Given the description of an element on the screen output the (x, y) to click on. 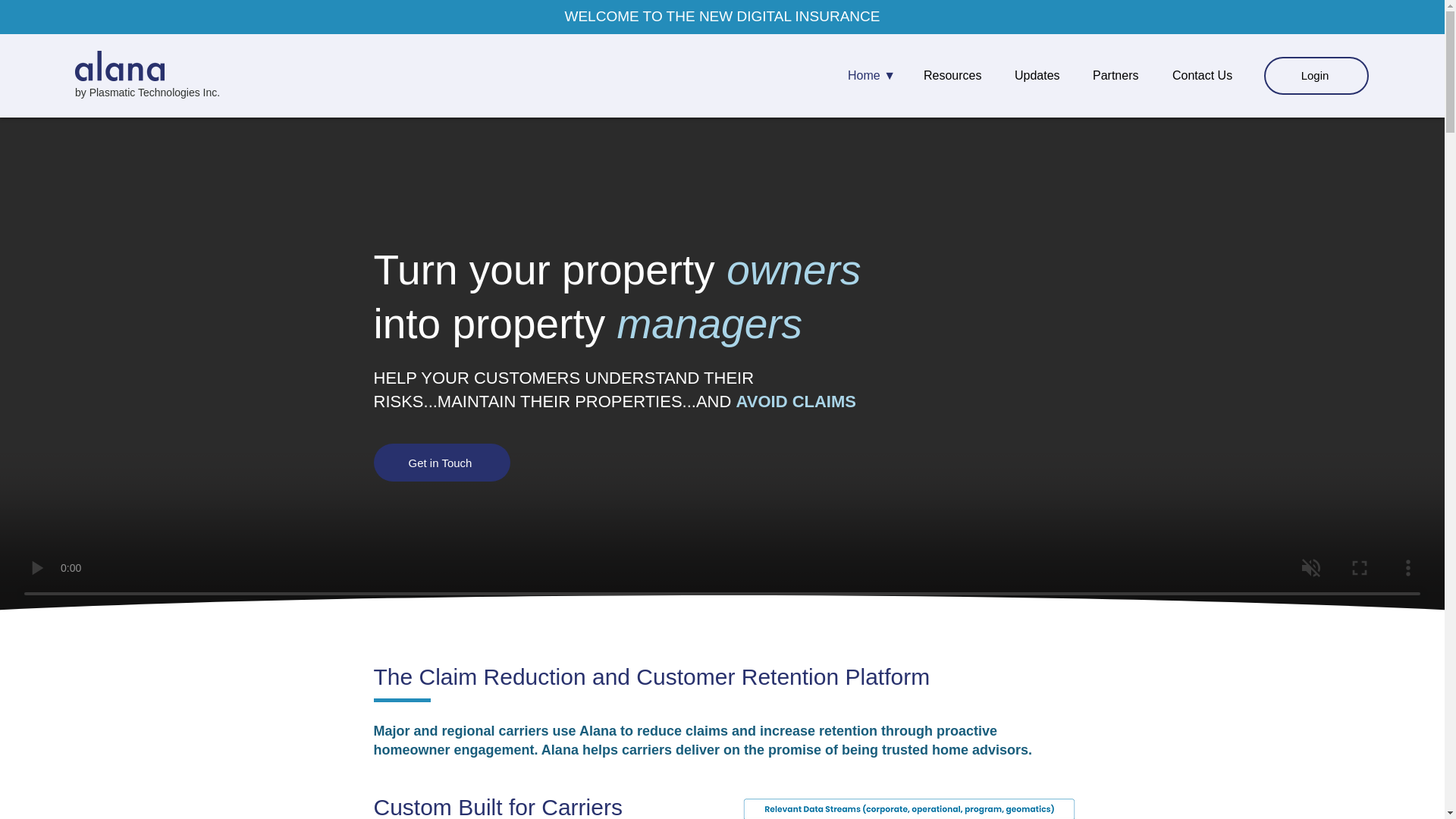
Updates (1042, 75)
Contact Us (1207, 75)
Partners (1120, 75)
Get in Touch (440, 462)
Resources (957, 75)
Login (1315, 75)
by Plasmatic Technologies Inc. (147, 92)
